Given the description of an element on the screen output the (x, y) to click on. 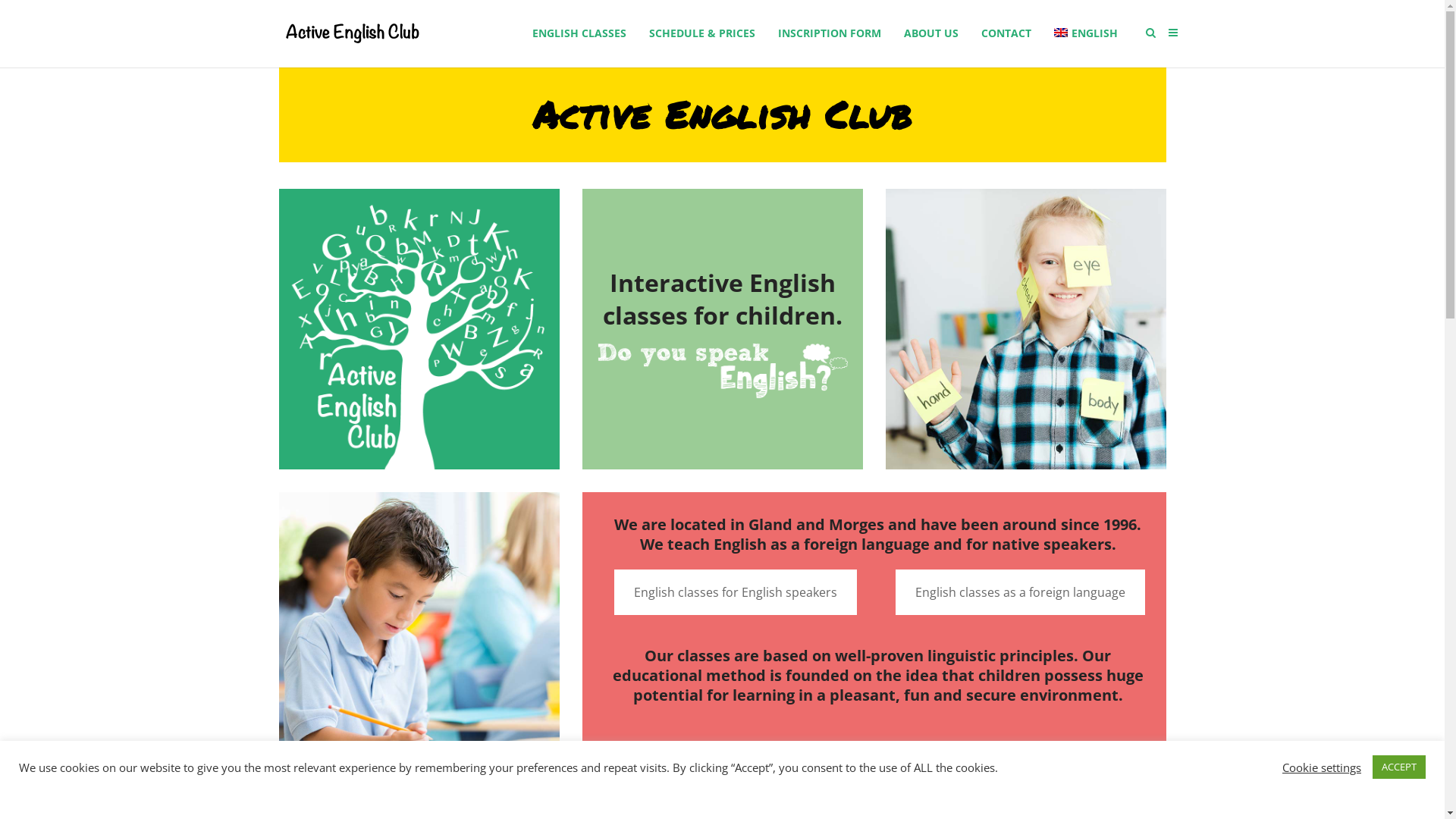
Cookie settings Element type: text (1321, 767)
English classes as a foreign language Element type: text (1019, 592)
ACCEPT Element type: text (1398, 766)
English classes for English speakers Element type: text (735, 592)
